Given the description of an element on the screen output the (x, y) to click on. 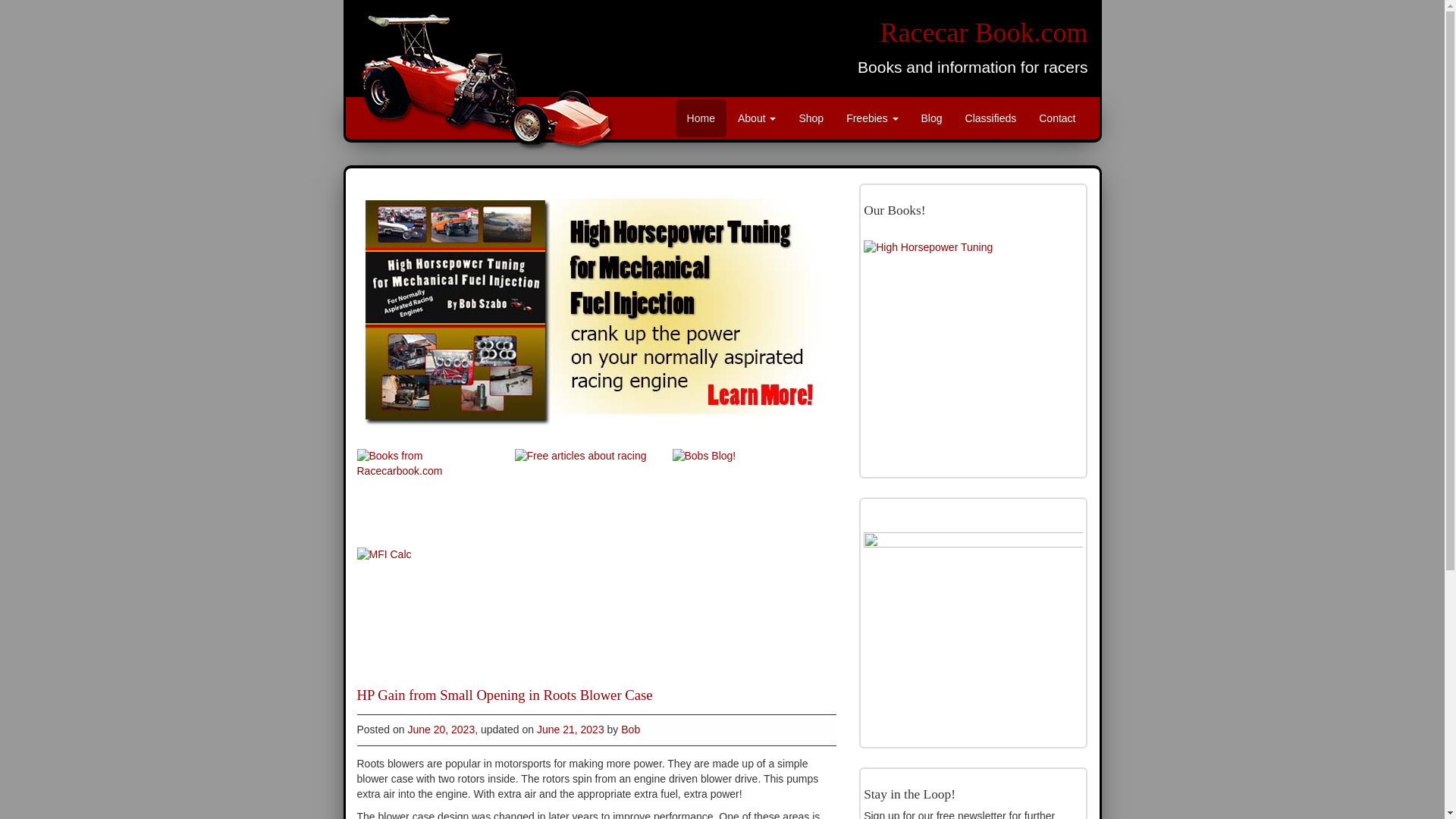
Shop (810, 118)
June 21, 2023 (570, 729)
Classifieds (990, 118)
Freebies (871, 118)
Shop (810, 118)
Contact (1056, 118)
June 20, 2023 (440, 729)
About (756, 118)
Classifieds (990, 118)
Blog (931, 118)
